Given the description of an element on the screen output the (x, y) to click on. 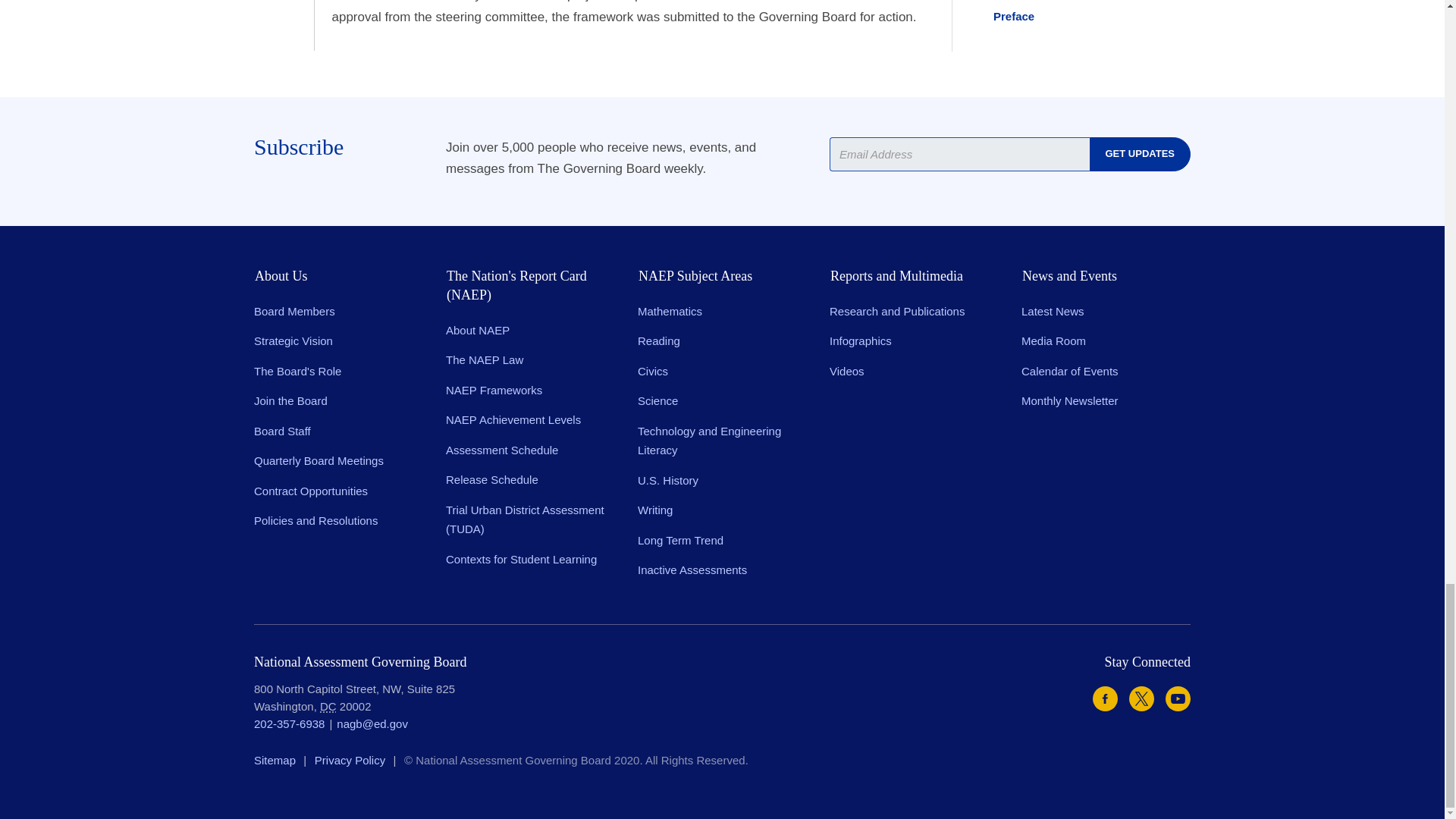
twitter (1141, 698)
Get Updates (1140, 154)
facebook (1105, 698)
youtube (1178, 698)
